Given the description of an element on the screen output the (x, y) to click on. 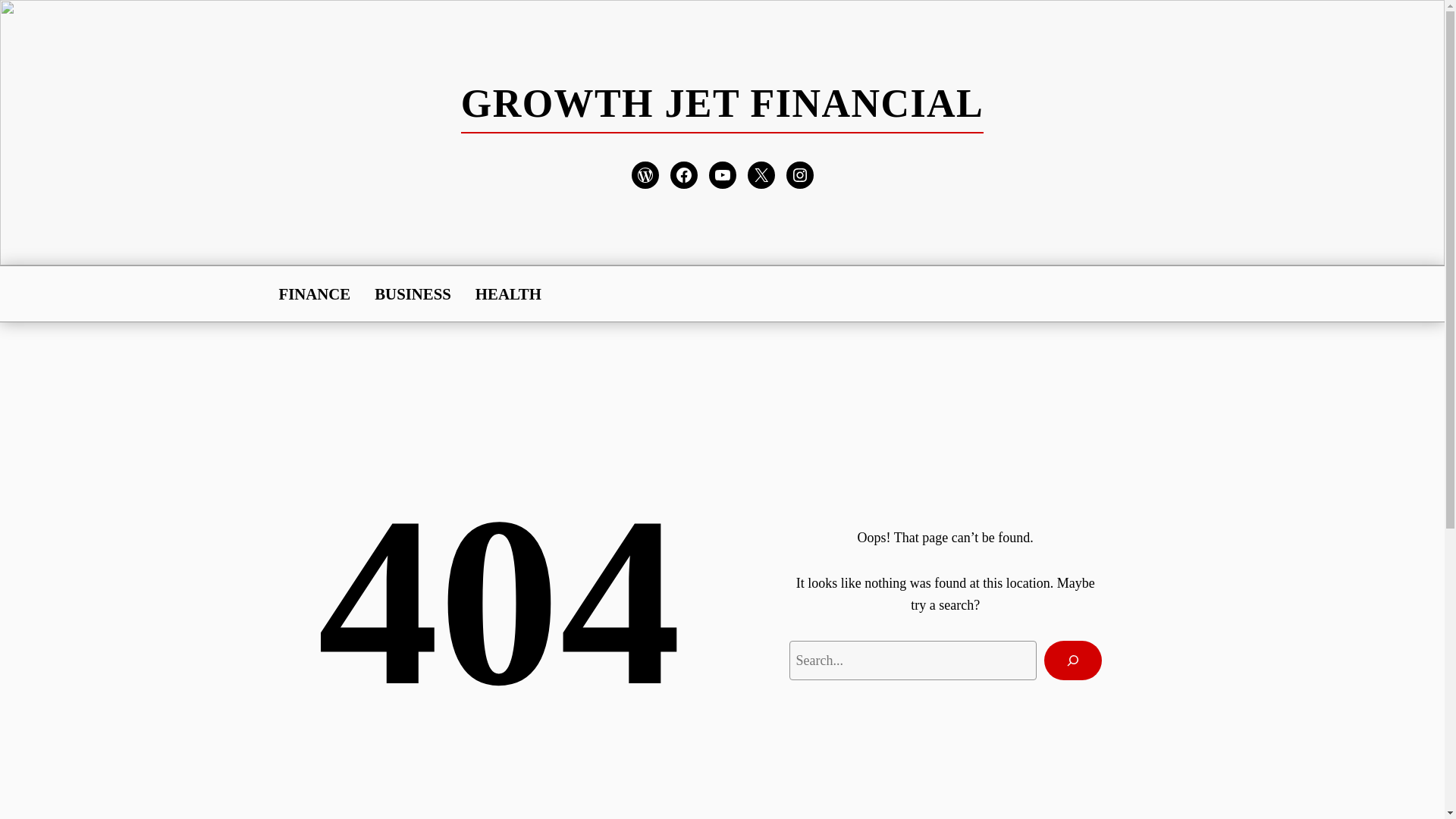
WordPress (644, 175)
YouTube (721, 175)
HEALTH (508, 293)
X (761, 175)
FINANCE (314, 293)
GROWTH JET FINANCIAL (722, 103)
Instagram (799, 175)
Facebook (683, 175)
BUSINESS (412, 293)
